Given the description of an element on the screen output the (x, y) to click on. 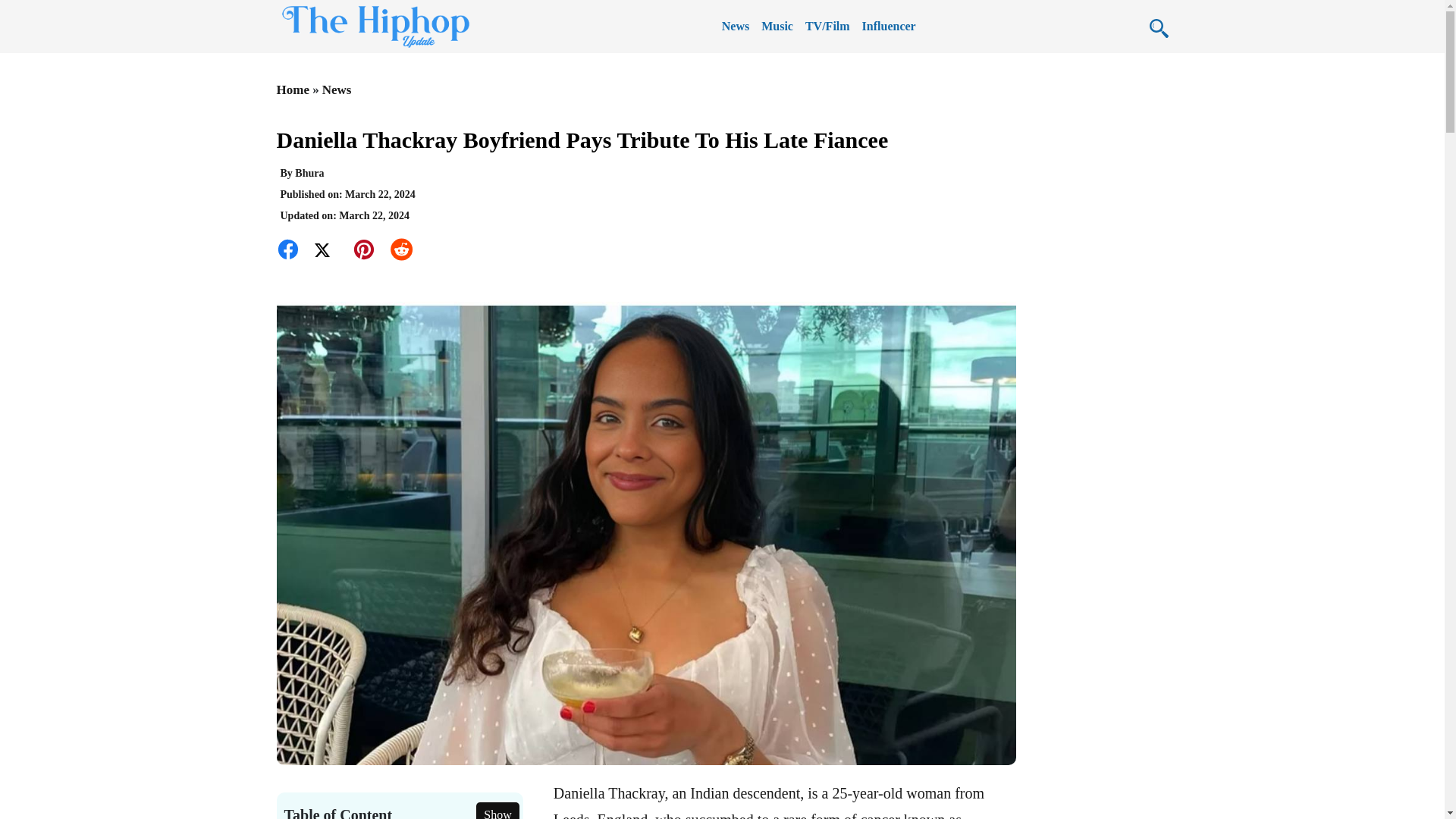
News (735, 26)
Home (294, 89)
News (336, 89)
Bhura (309, 172)
Music (777, 26)
Influencer (888, 26)
